Given the description of an element on the screen output the (x, y) to click on. 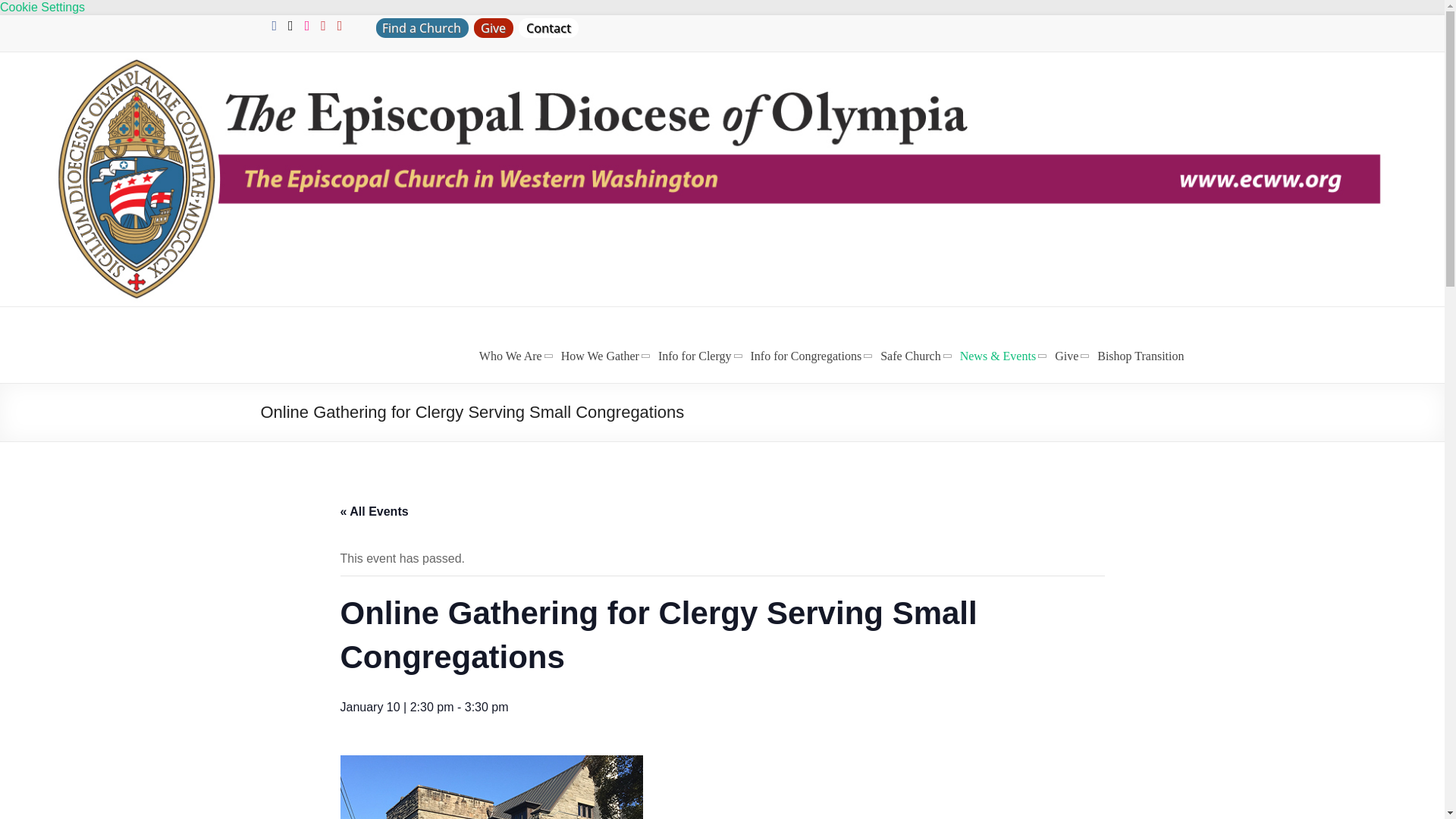
Info for Clergy (695, 355)
How We Gather (599, 355)
Cookie Settings (42, 6)
Who We Are (510, 355)
